Given the description of an element on the screen output the (x, y) to click on. 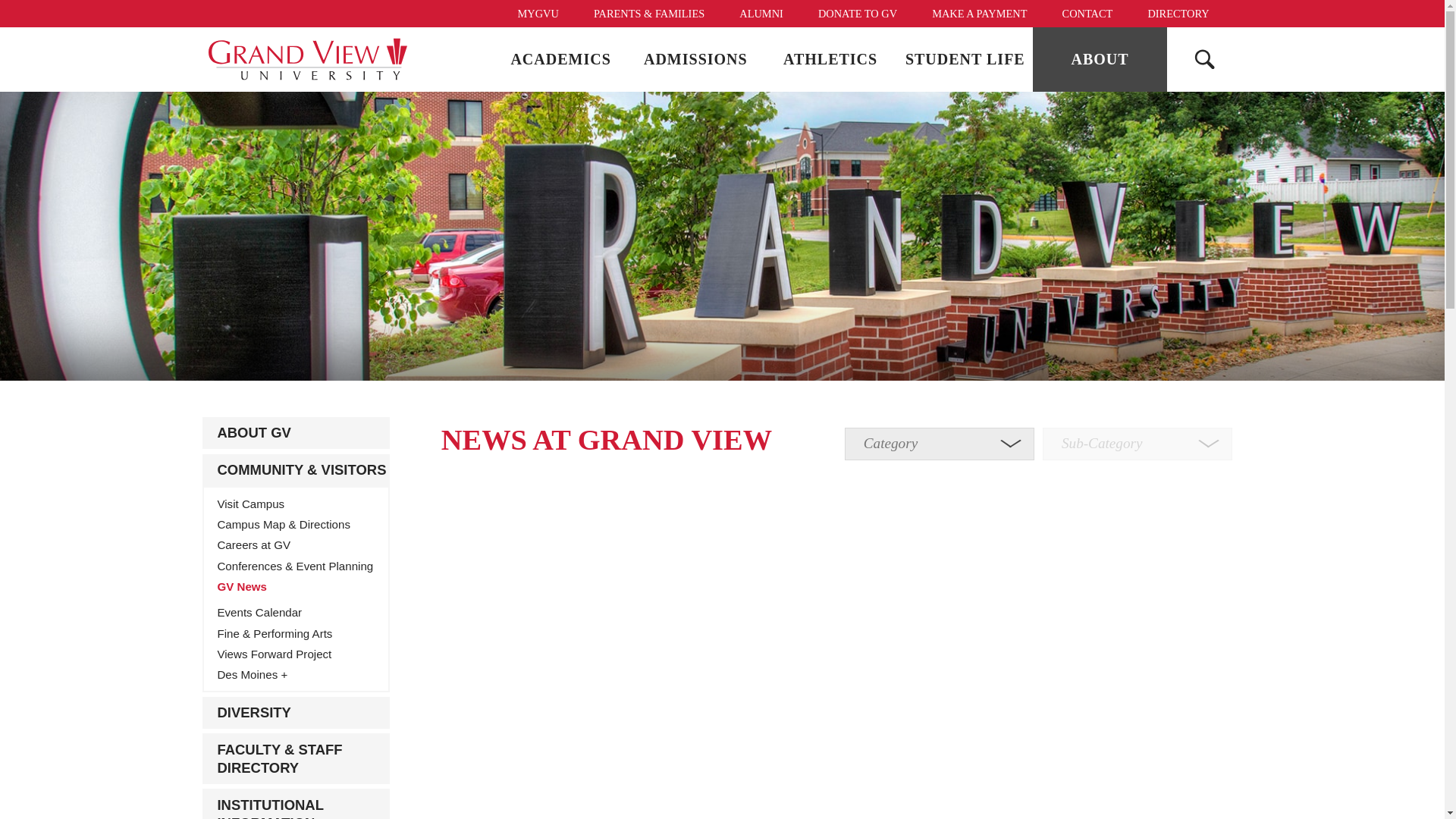
Grand View University logo (307, 59)
ALUMNI (761, 13)
ACADEMICS (560, 59)
MAKE A PAYMENT (978, 13)
DIRECTORY (1177, 13)
MYGVU (537, 13)
CONTACT (1088, 13)
DONATE TO GV (857, 13)
